Given the description of an element on the screen output the (x, y) to click on. 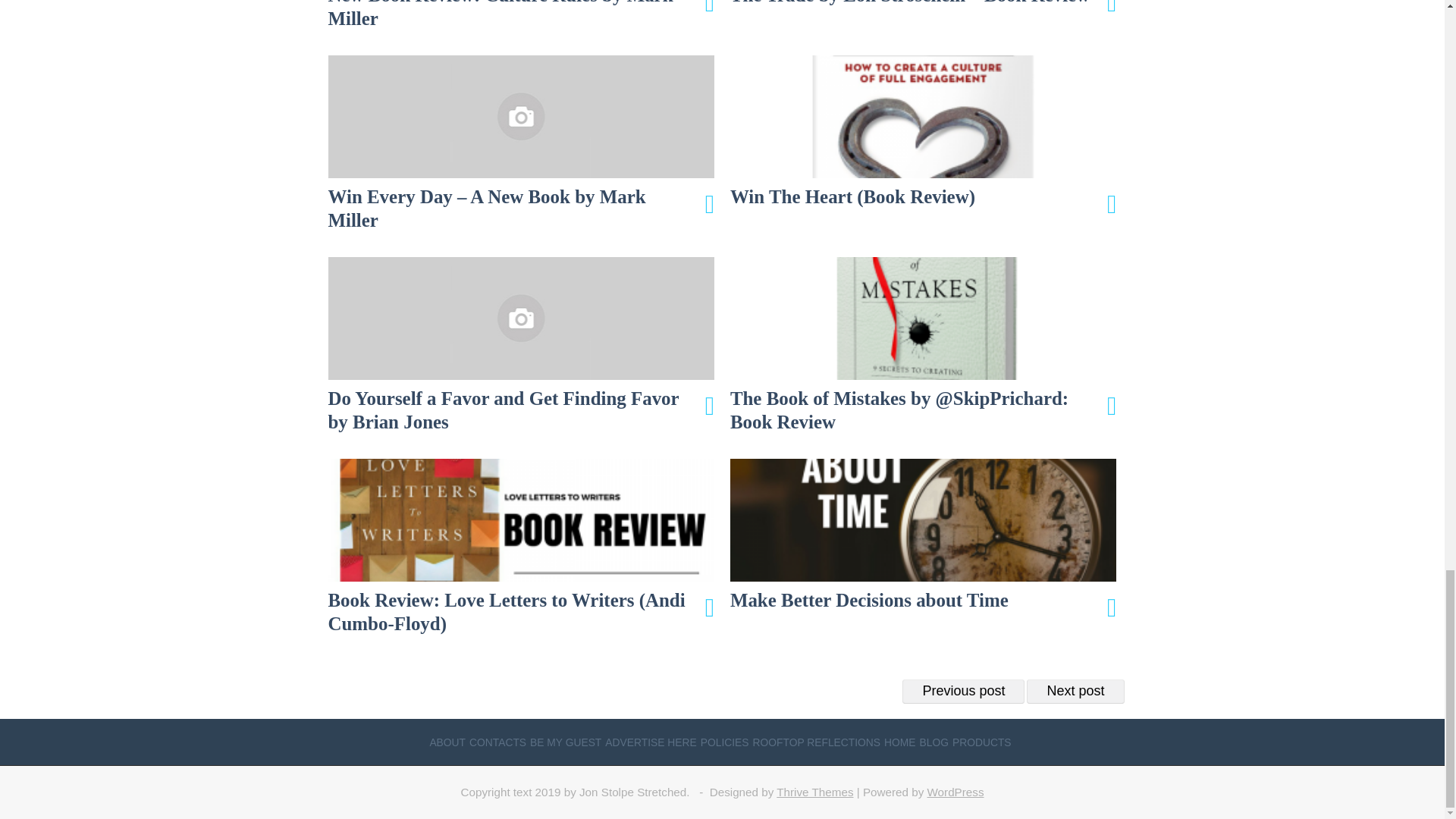
ABOUT (447, 742)
CONTACTS (496, 742)
New Book Review: Culture Rules by Mark Miller (520, 15)
ADVERTISE HERE (650, 742)
Do Yourself a Favor and Get Finding Favor by Brian Jones (520, 345)
BE MY GUEST (565, 742)
Next post (1075, 691)
Make Better Decisions about Time (923, 534)
Previous post (963, 691)
POLICIES (724, 742)
